Given the description of an element on the screen output the (x, y) to click on. 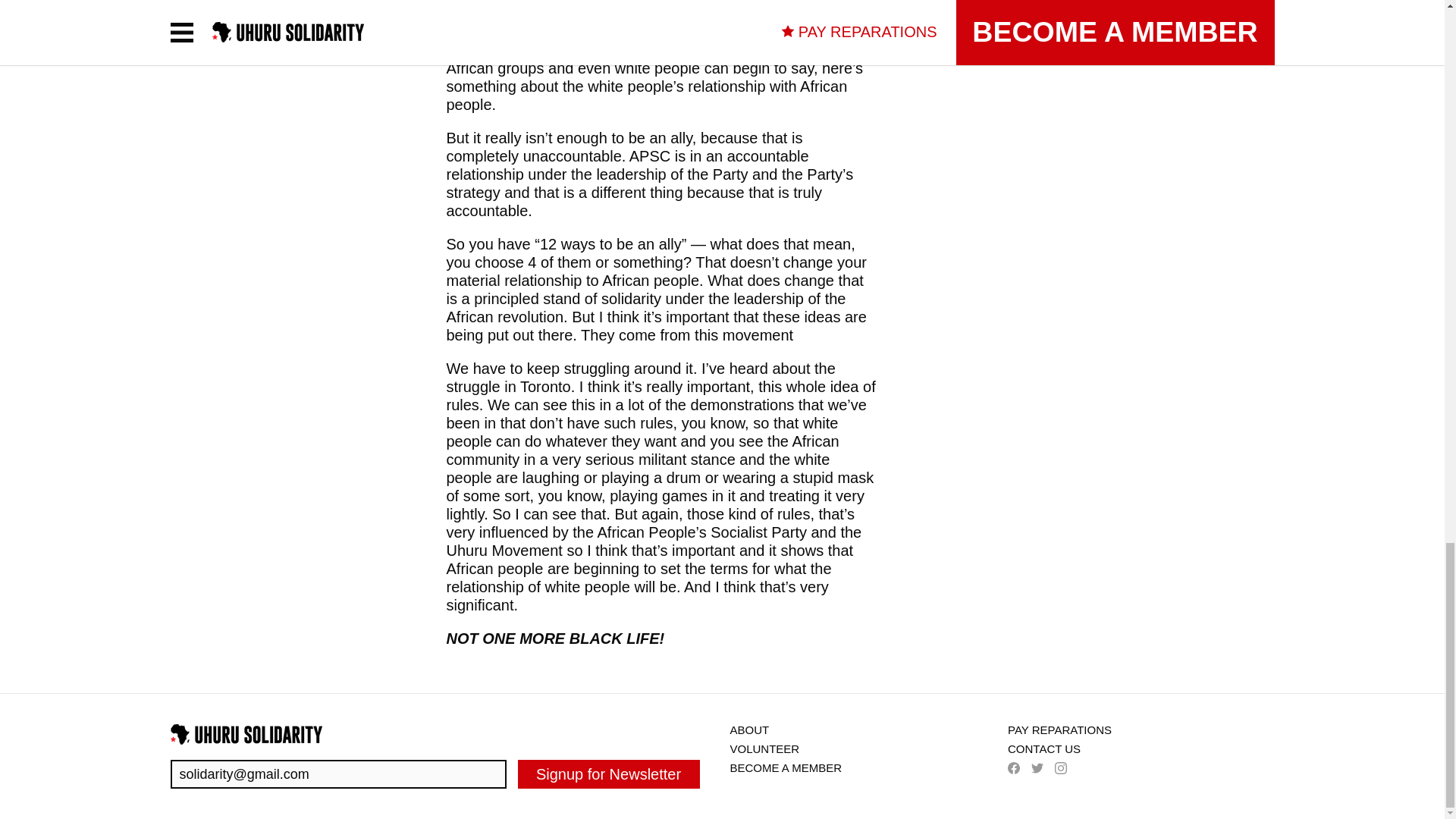
VOLUNTEER (764, 748)
Signup for Newsletter (608, 774)
CONTACT US (1043, 748)
ABOUT (748, 729)
BECOME A MEMBER (785, 767)
PAY REPARATIONS (1059, 729)
